Given the description of an element on the screen output the (x, y) to click on. 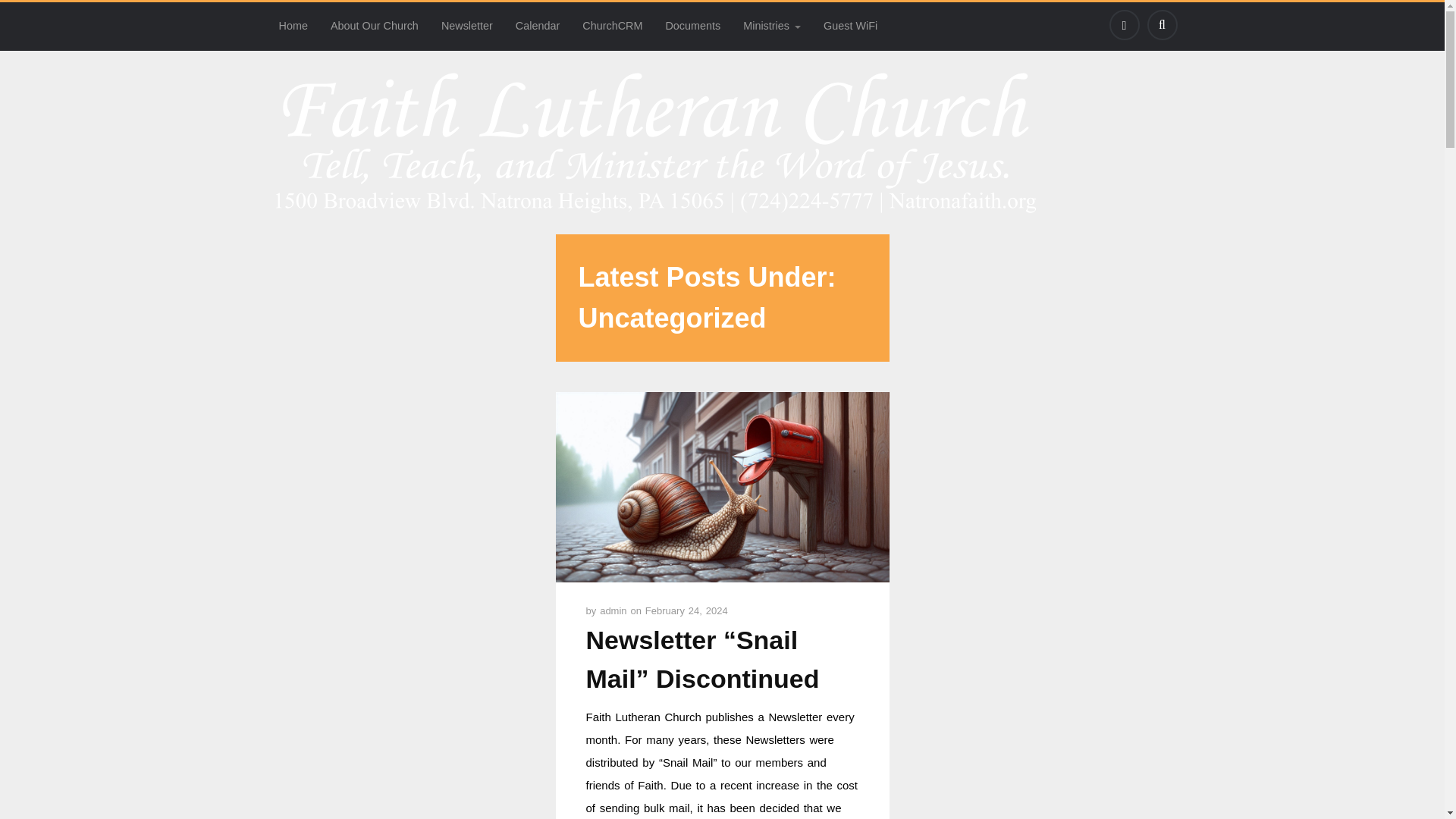
Ministries (772, 26)
Home (292, 26)
admin (614, 610)
Newsletter (466, 26)
ChurchCRM (611, 26)
Calendar (536, 26)
Documents (692, 26)
Guest WiFi (850, 26)
About Our Church (373, 26)
